Given the description of an element on the screen output the (x, y) to click on. 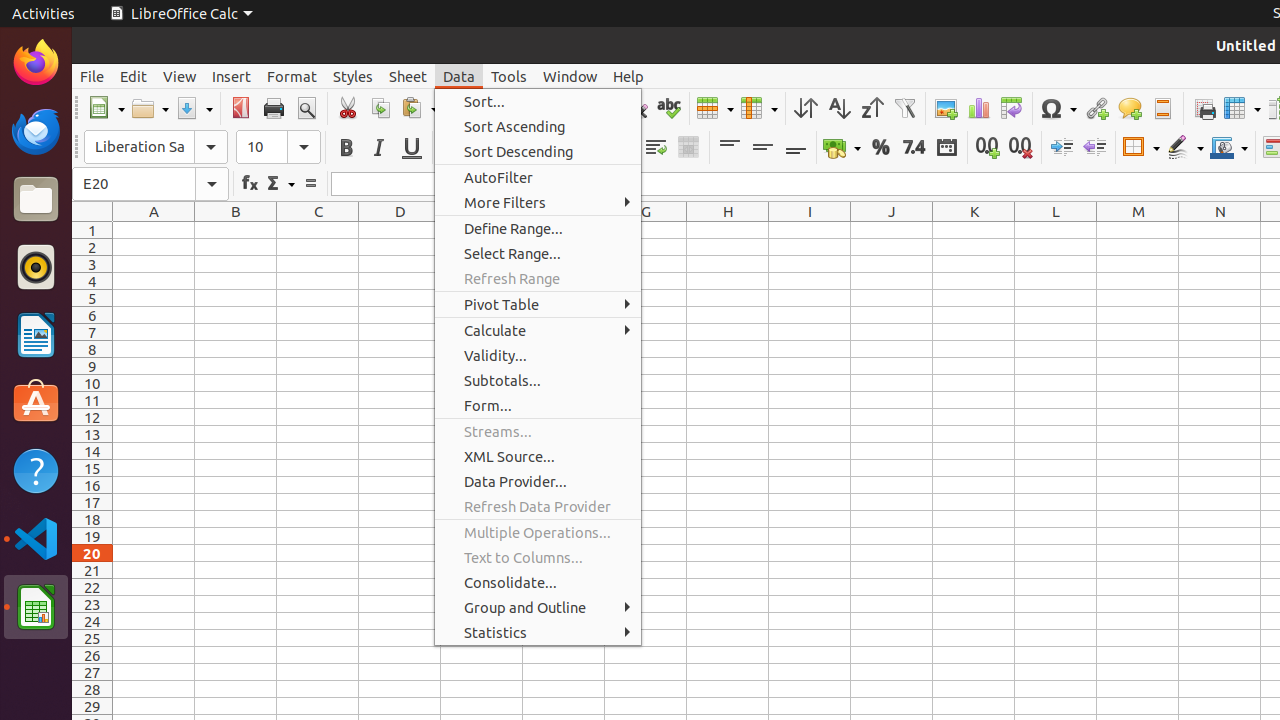
Border Style Element type: push-button (1185, 147)
Headers and Footers Element type: push-button (1162, 108)
Image Element type: push-button (945, 108)
Merge and Center Cells Element type: push-button (688, 147)
Freeze Rows and Columns Element type: push-button (1242, 108)
